Given the description of an element on the screen output the (x, y) to click on. 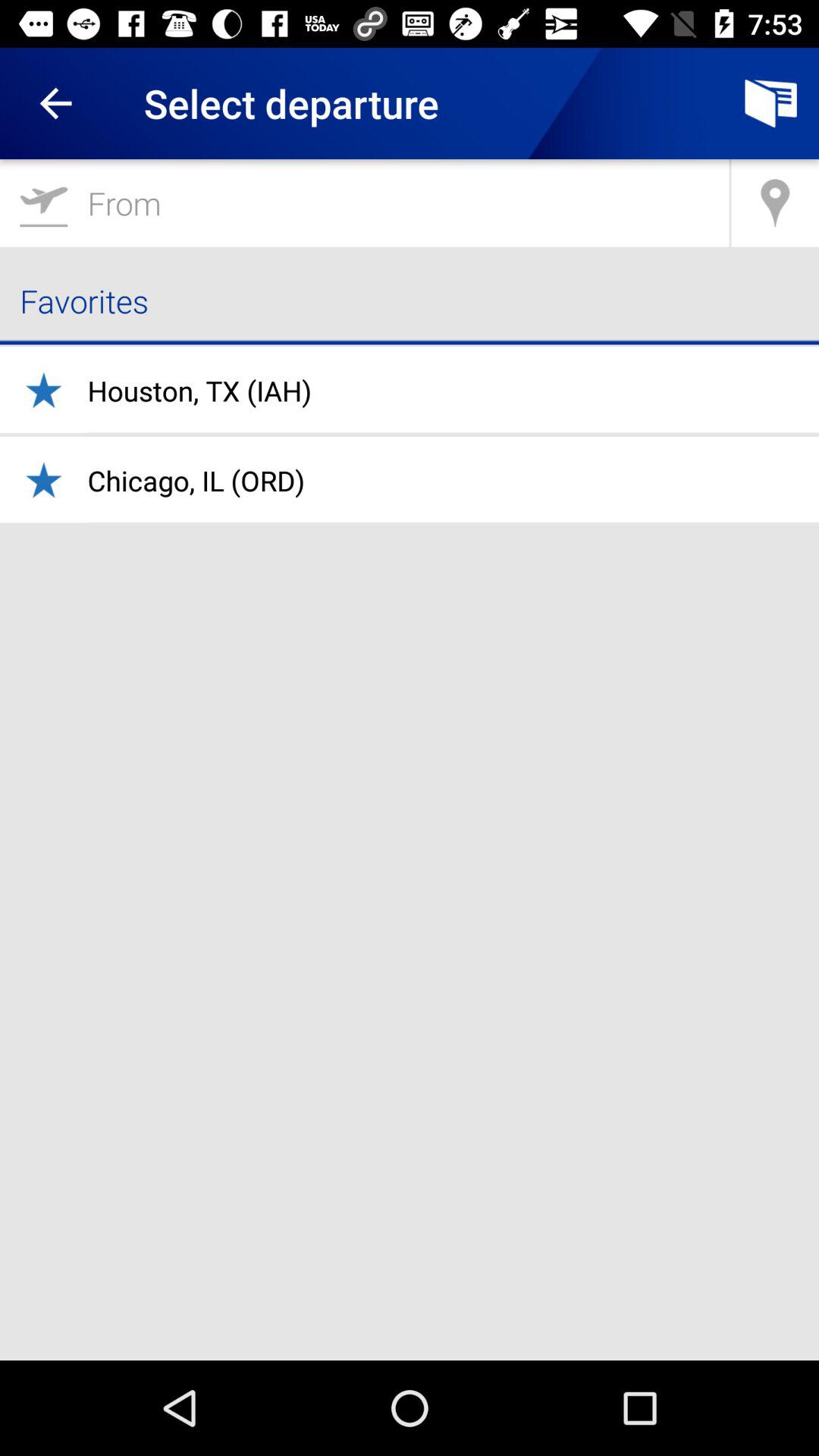
choose the chicago, il (ord) icon (195, 480)
